Given the description of an element on the screen output the (x, y) to click on. 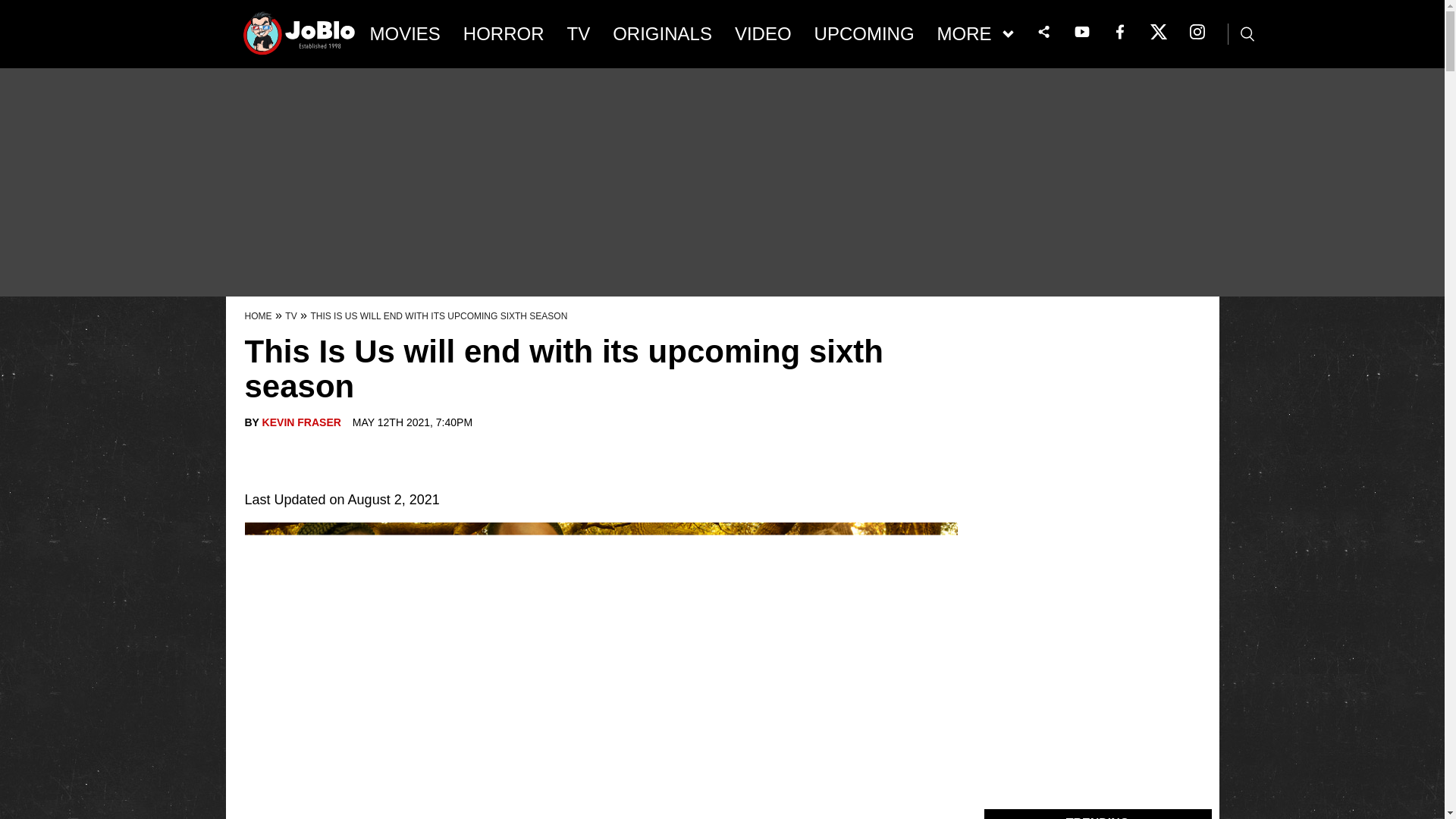
TV (578, 34)
ORIGINALS (662, 34)
MORE (976, 34)
UPCOMING (863, 34)
VIDEO (762, 34)
MOVIES (405, 34)
Go (13, 7)
HORROR (503, 34)
JoBlo Logo (299, 38)
